Given the description of an element on the screen output the (x, y) to click on. 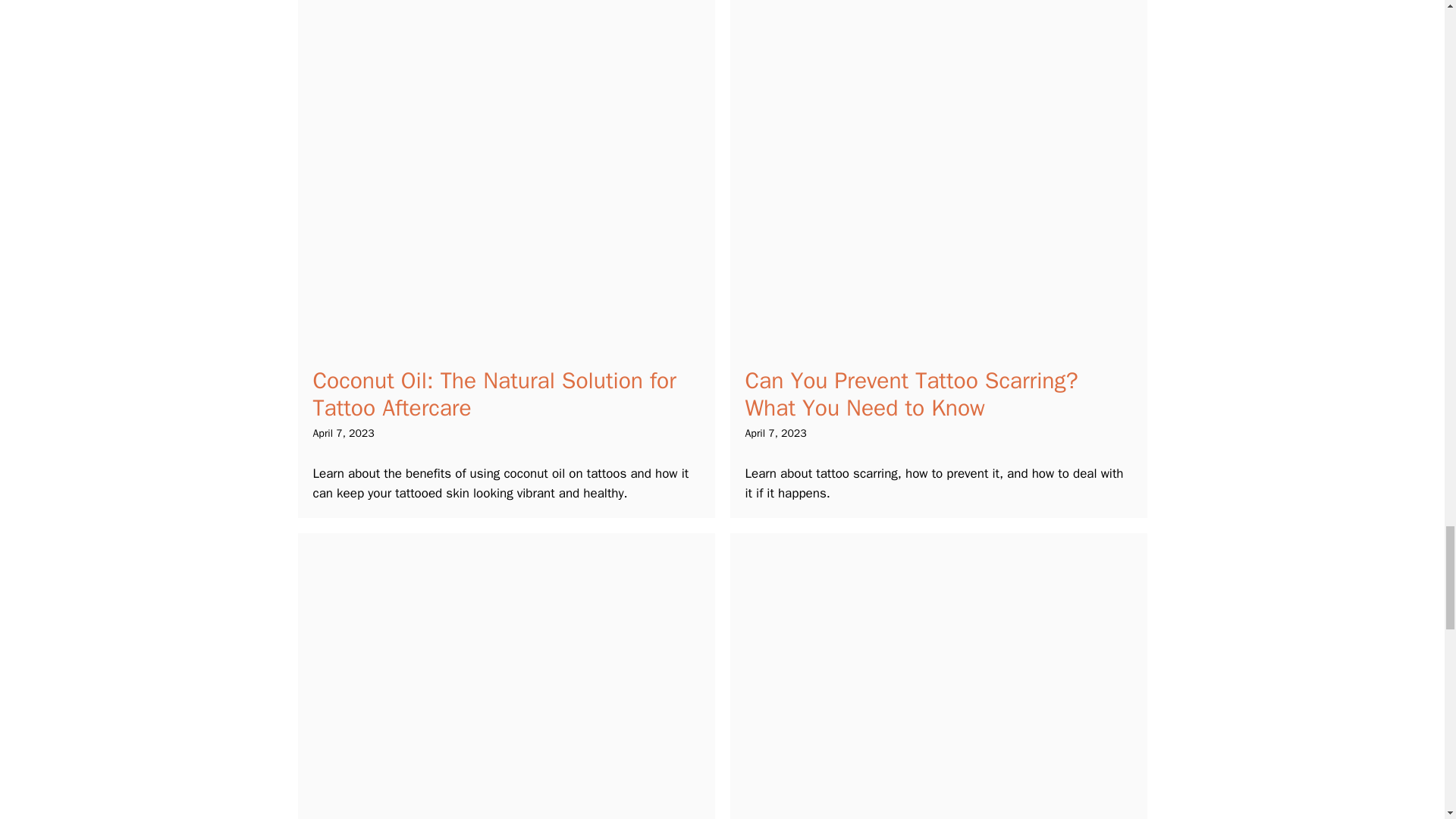
Coconut Oil: The Natural Solution for Tattoo Aftercare (494, 394)
Can You Prevent Tattoo Scarring? What You Need to Know (910, 394)
